Given the description of an element on the screen output the (x, y) to click on. 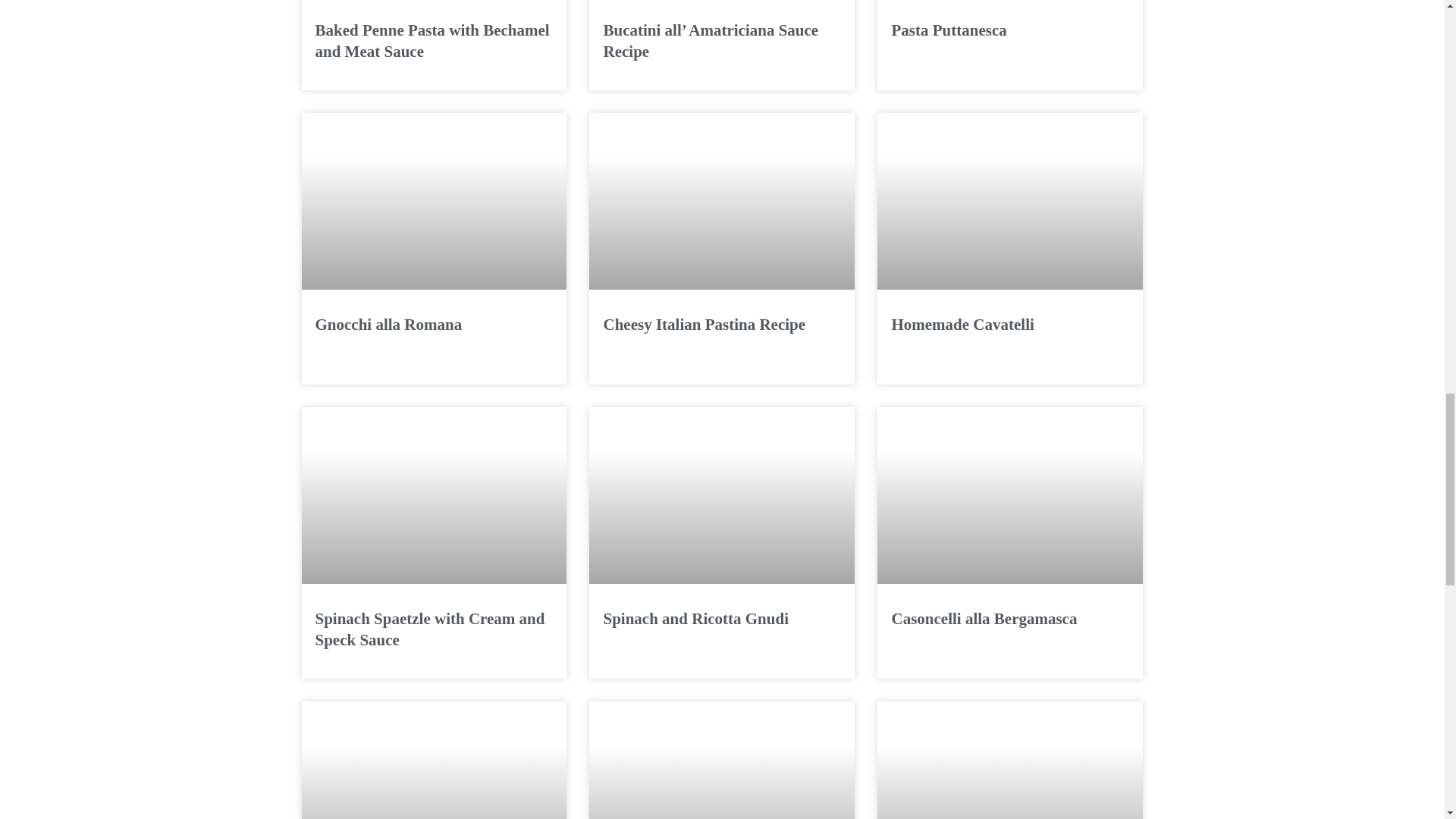
Gnocchi alla Romana (434, 201)
